Given the description of an element on the screen output the (x, y) to click on. 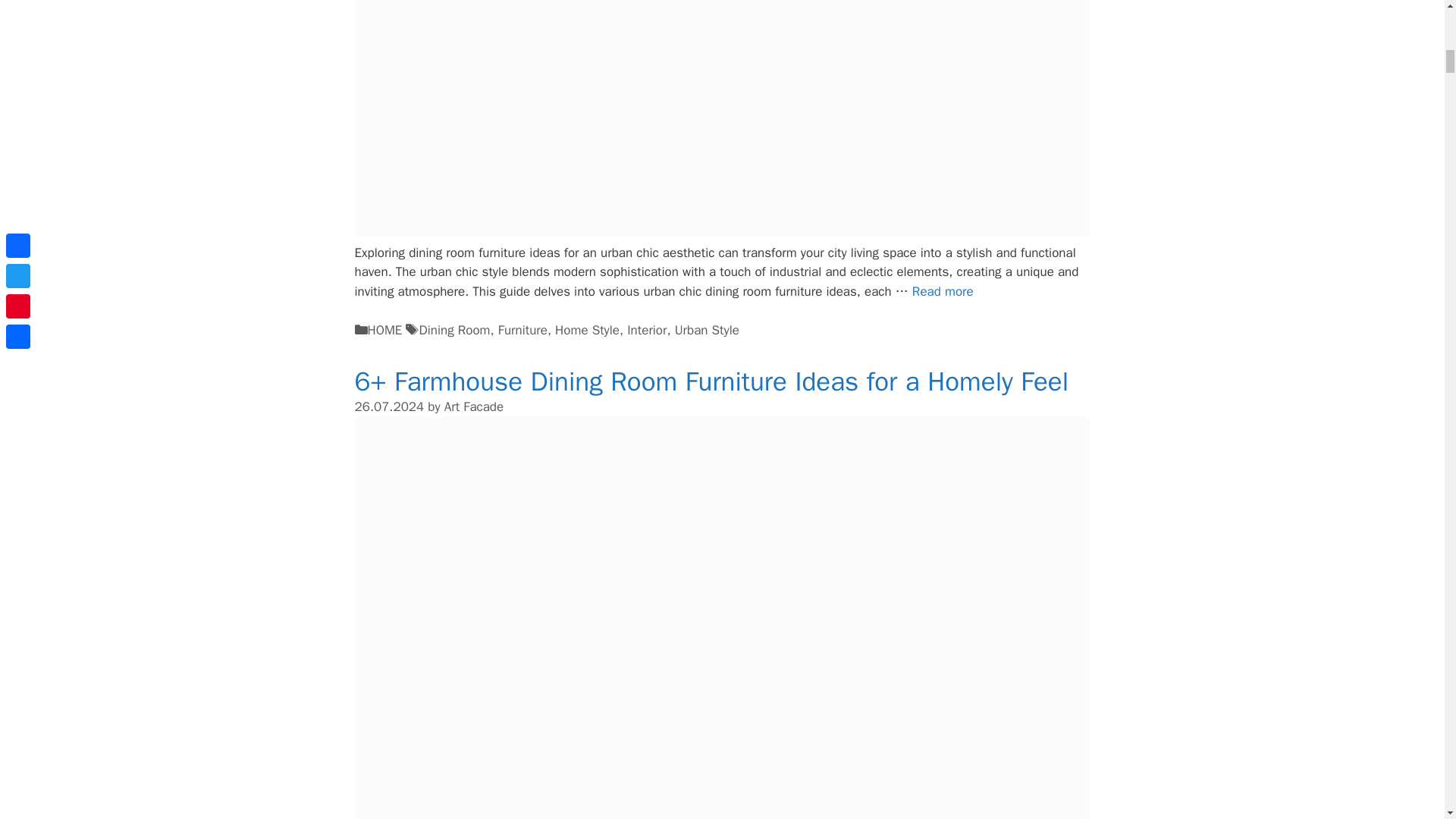
View all posts by Art Facade (473, 406)
